Given the description of an element on the screen output the (x, y) to click on. 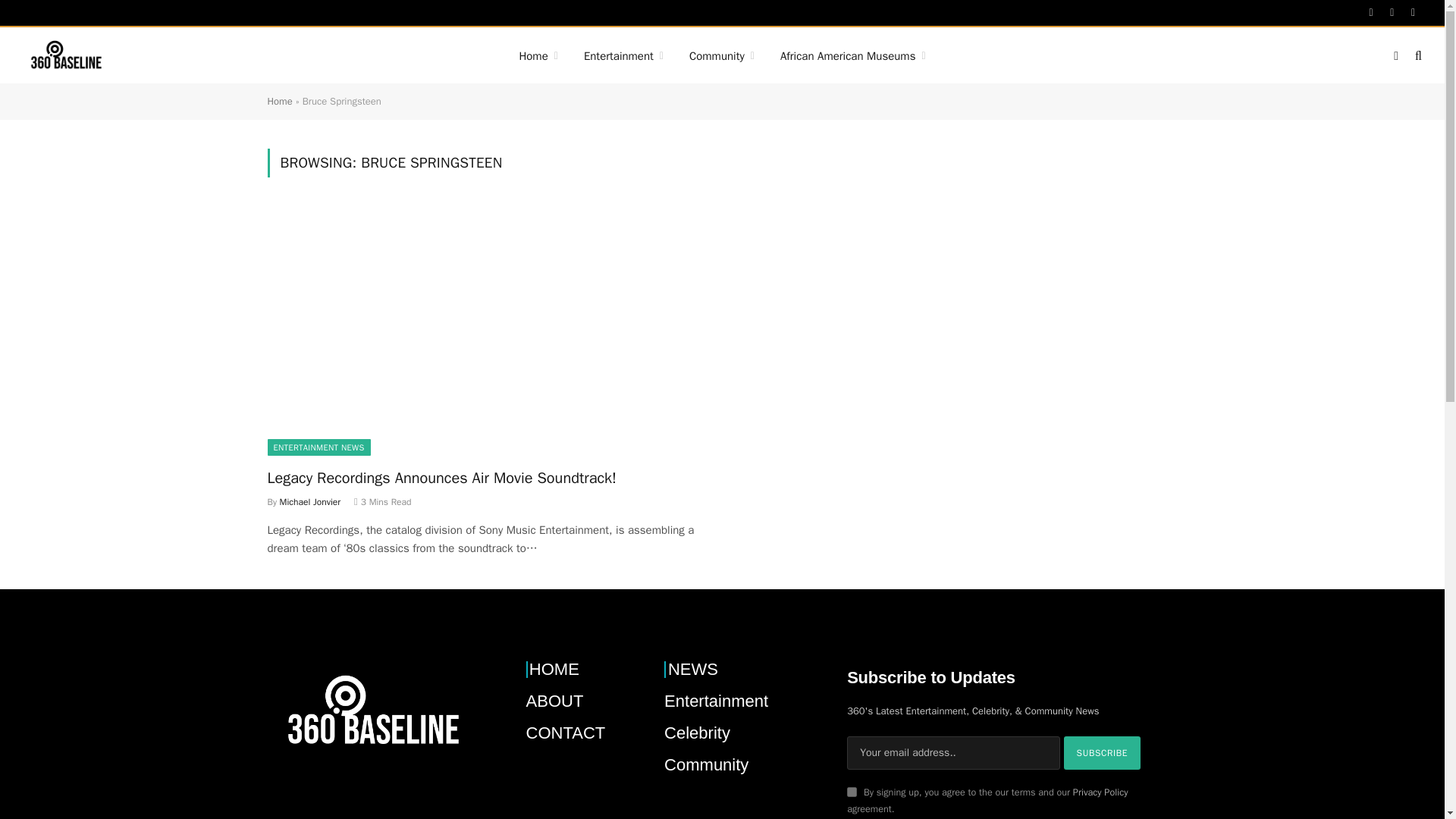
on (852, 791)
Subscribe (1102, 752)
Community (722, 56)
African American Museums (853, 56)
Switch to Dark Design - easier on eyes. (1396, 55)
360 BASELINE MOVEMENT (65, 56)
Entertainment (623, 56)
Home (537, 56)
Posts by Michael Jonvier (309, 501)
Legacy Recordings Announces Air Movie Soundtrack! (486, 331)
